Given the description of an element on the screen output the (x, y) to click on. 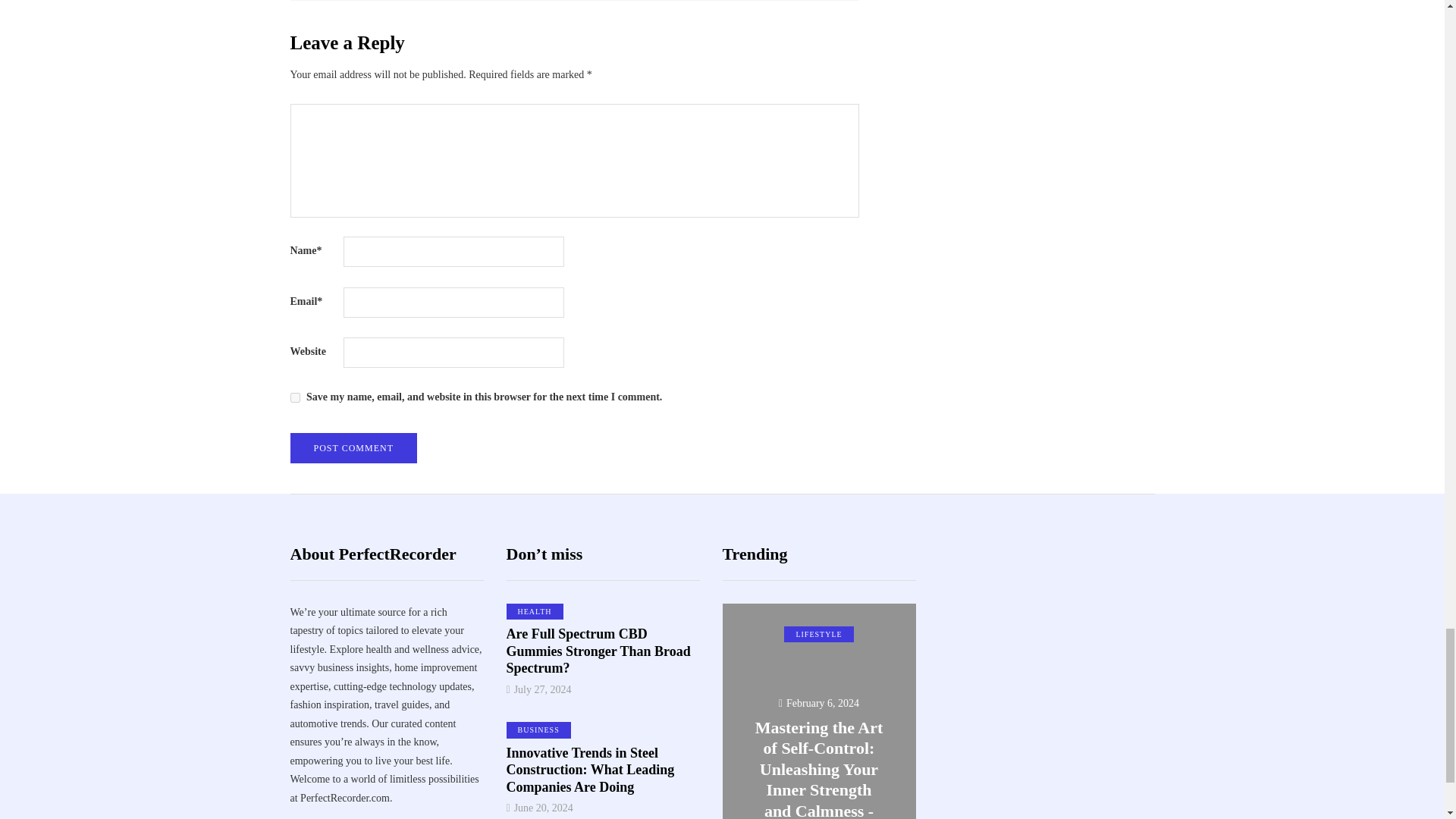
Post comment (352, 448)
yes (294, 397)
